Given the description of an element on the screen output the (x, y) to click on. 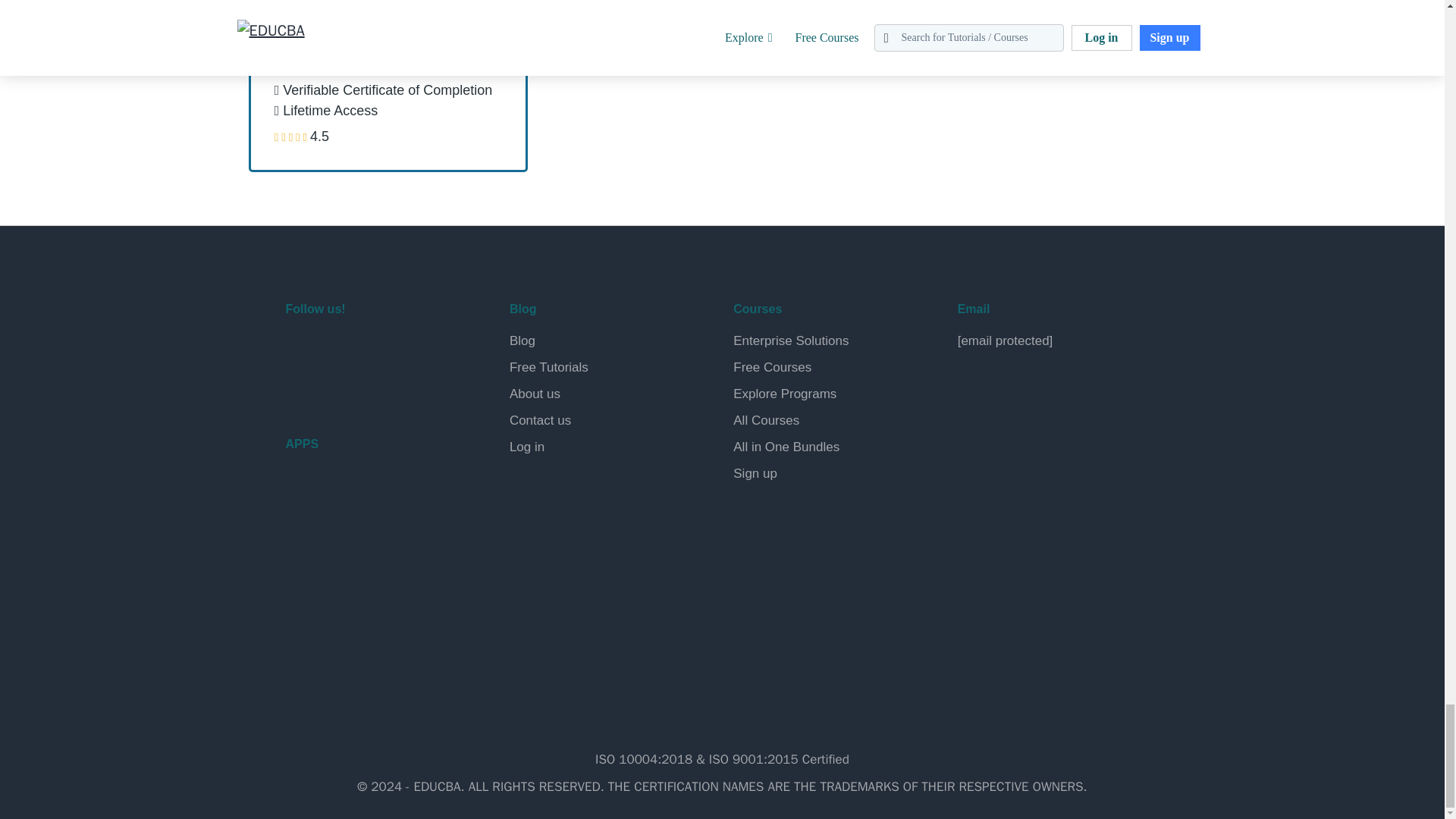
EDUCBA Android App (360, 499)
EDUCBA Twitter (336, 349)
EDUCBA Instagram (408, 349)
EDUCBA iOS App (360, 562)
EDUCBA Udemy (371, 387)
EDUCBA Facebook (300, 349)
EDUCBA Coursera (336, 387)
EDUCBA Youtube (300, 387)
EDUCBA LinkedIN (371, 349)
